Given the description of an element on the screen output the (x, y) to click on. 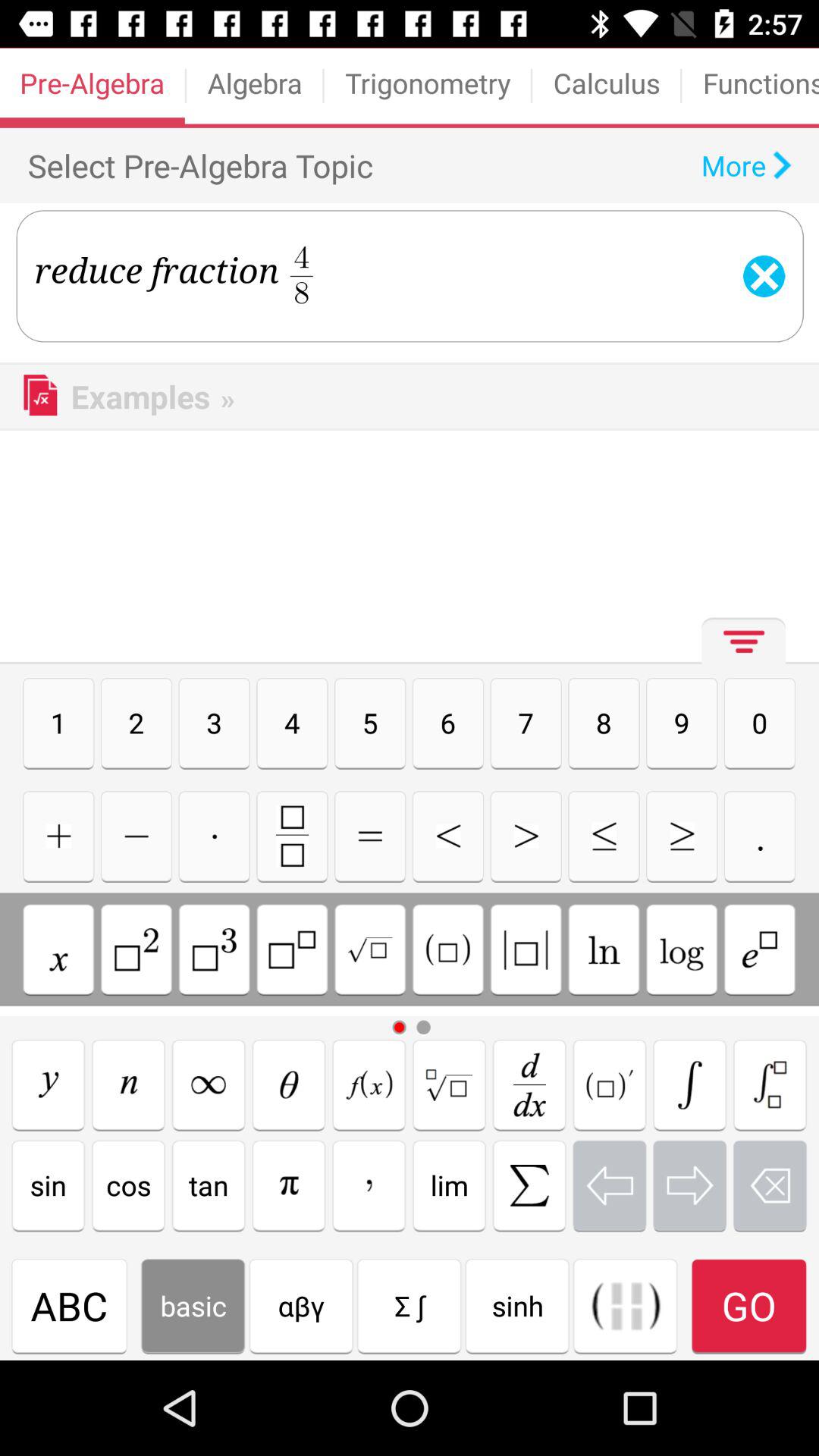
insert parenthesis (625, 1305)
